Given the description of an element on the screen output the (x, y) to click on. 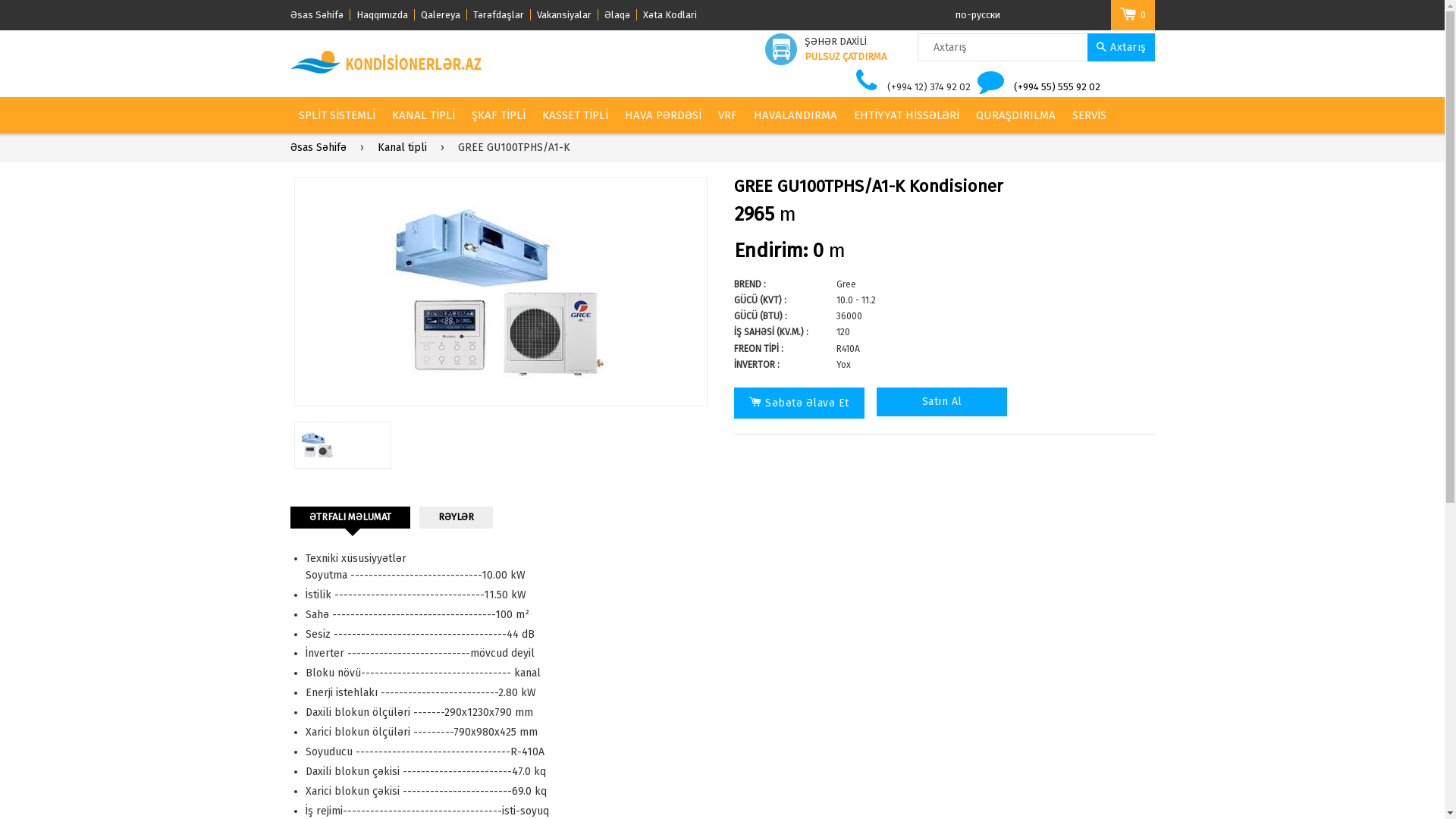
(+994 55) 555 92 02 Element type: text (1056, 86)
VRF Element type: text (726, 115)
KASSET TIPLI Element type: text (574, 115)
0 Element type: text (1132, 15)
Vakansiyalar Element type: text (567, 14)
KANAL TIPLI Element type: text (422, 115)
Kanal tipli Element type: text (404, 147)
Qalereya Element type: text (443, 14)
SERVIS Element type: text (1088, 115)
HAVALANDIRMA Element type: text (795, 115)
SPLIT SISTEMLI Element type: text (336, 115)
Kondisionerler.Az Element type: hover (386, 62)
